Given the description of an element on the screen output the (x, y) to click on. 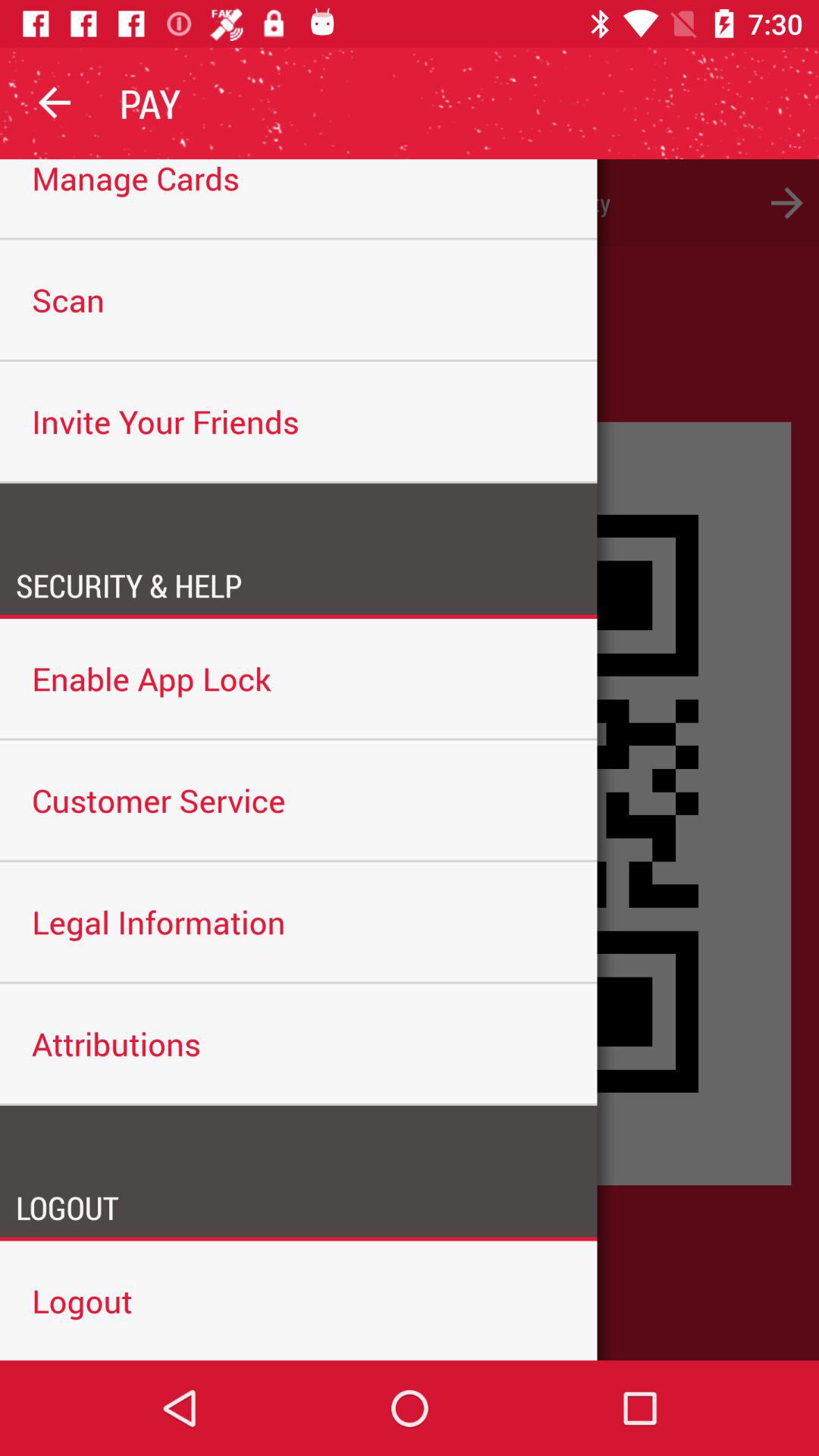
tap the please add a item (409, 202)
